Given the description of an element on the screen output the (x, y) to click on. 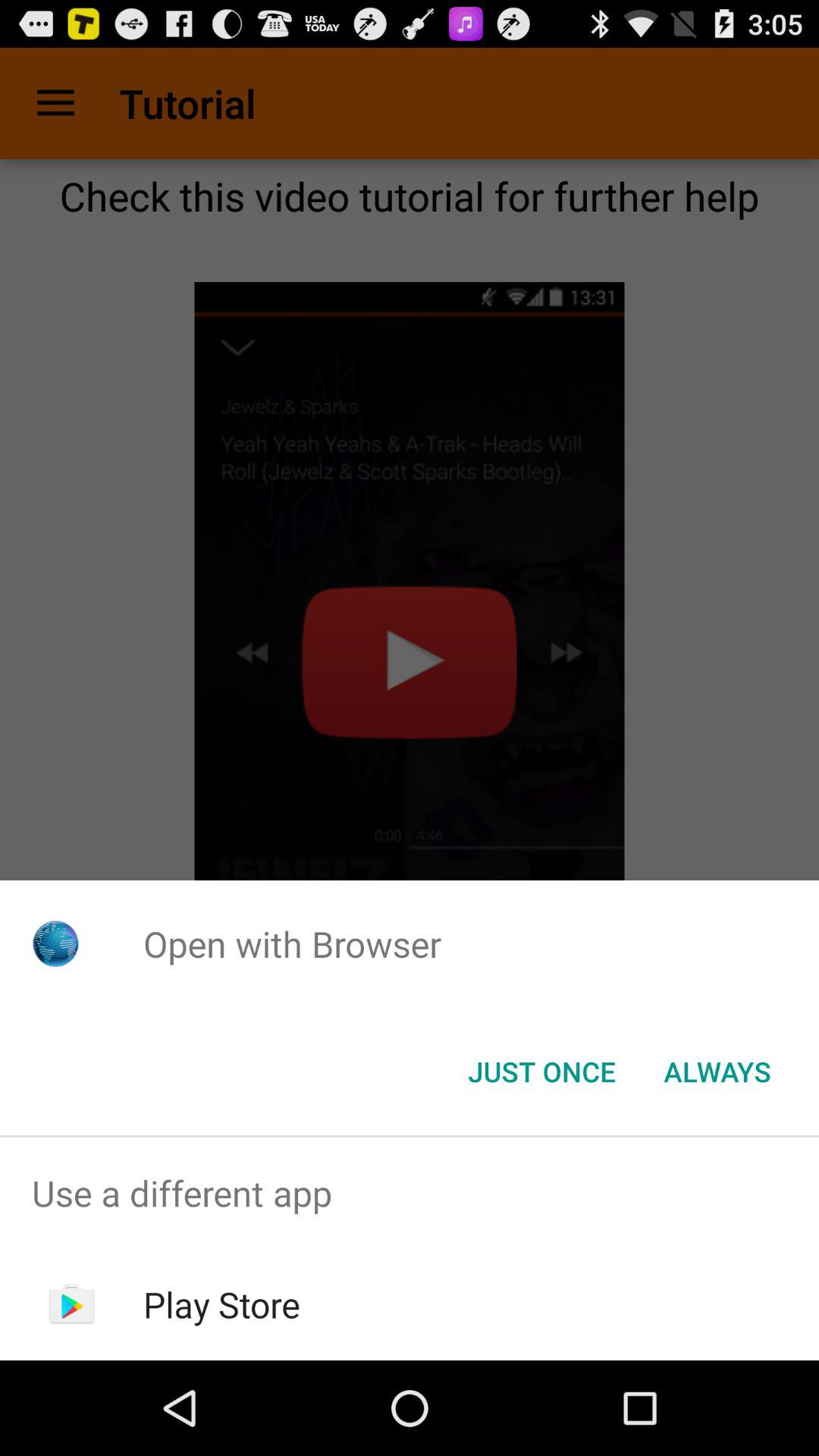
select icon next to always icon (541, 1071)
